Given the description of an element on the screen output the (x, y) to click on. 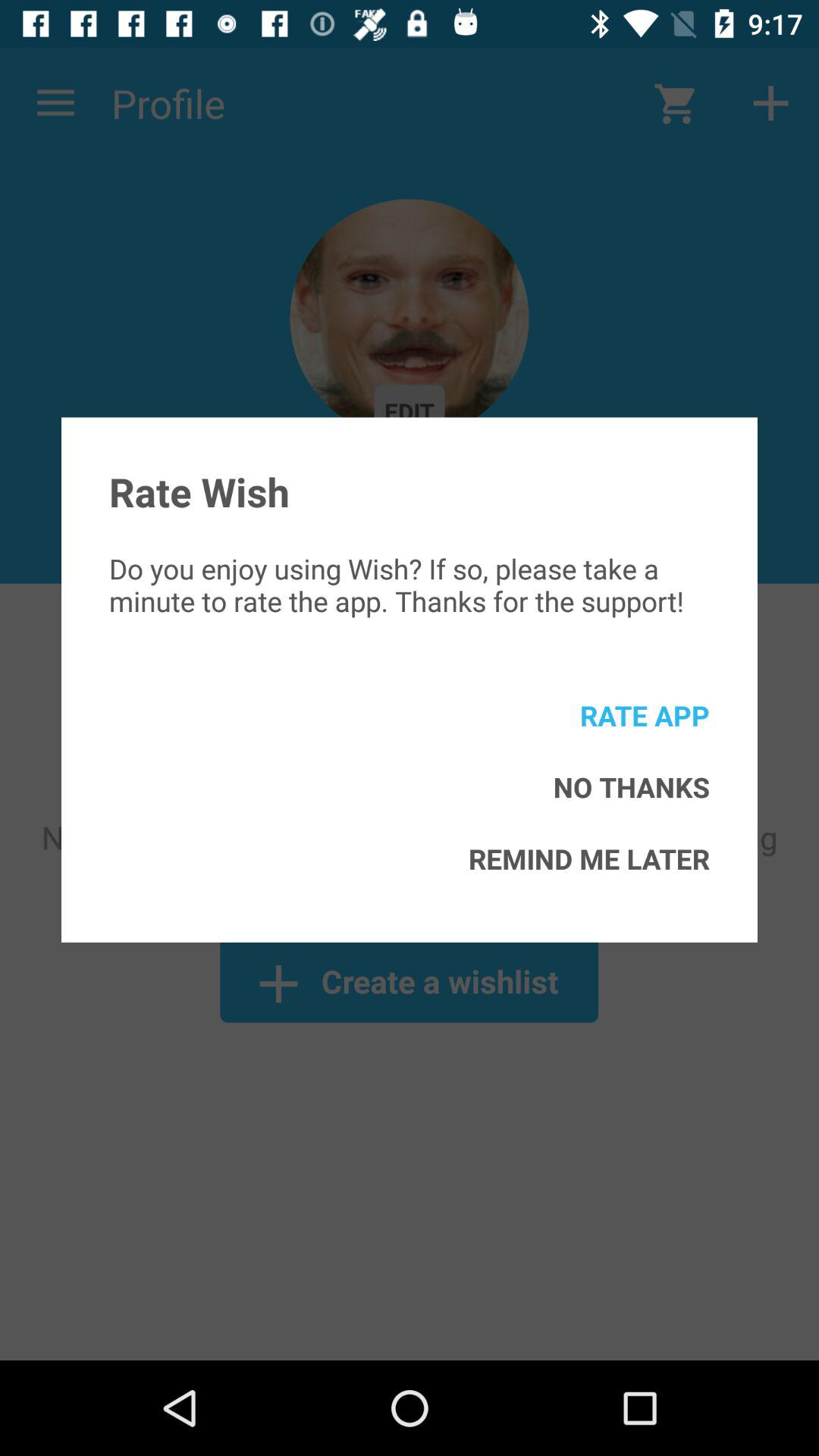
press the no thanks icon (631, 786)
